Given the description of an element on the screen output the (x, y) to click on. 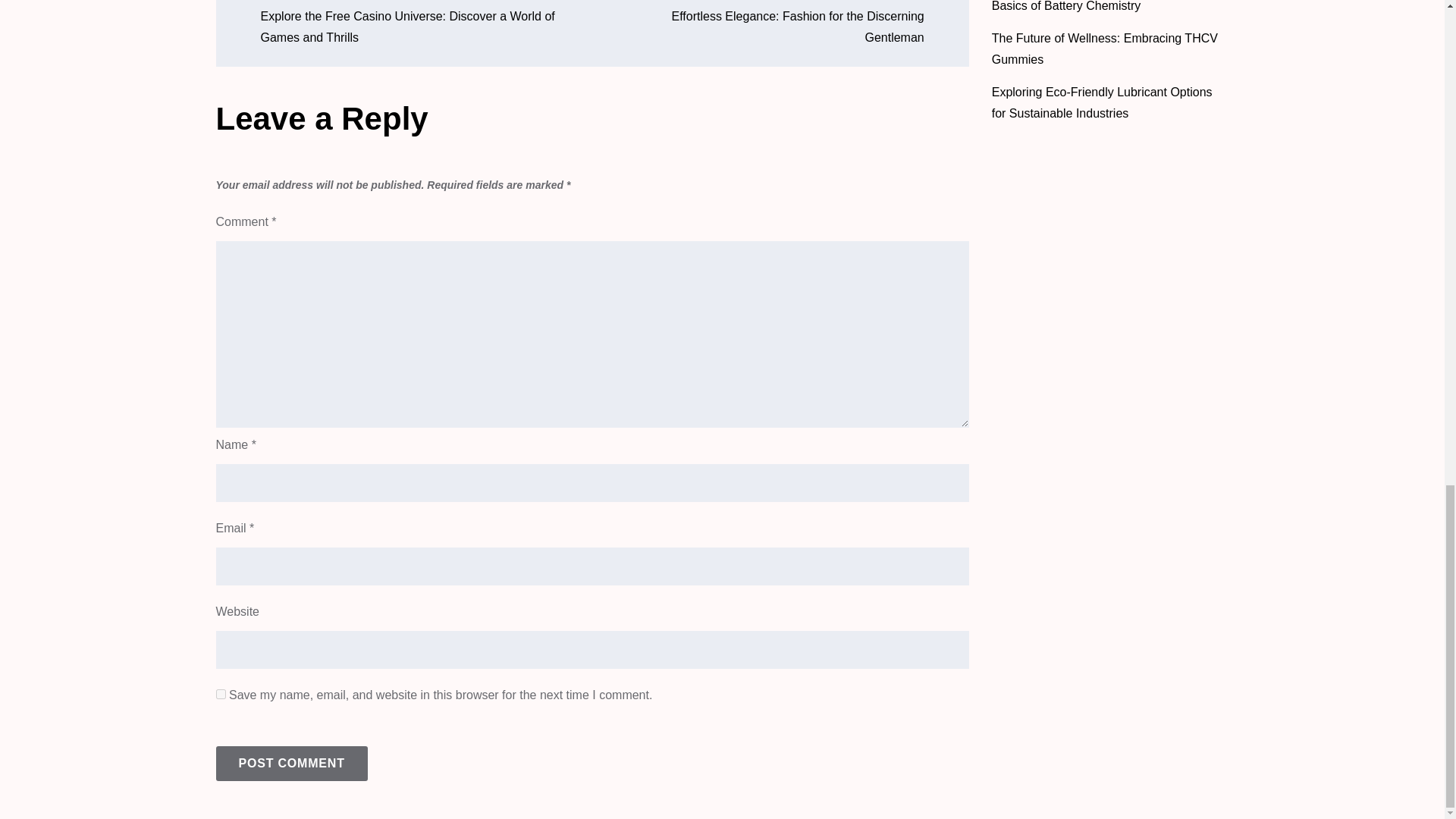
yes (220, 694)
Post Comment (290, 763)
Post Comment (290, 763)
The Future of Wellness: Embracing THCV Gummies (1104, 48)
